Given the description of an element on the screen output the (x, y) to click on. 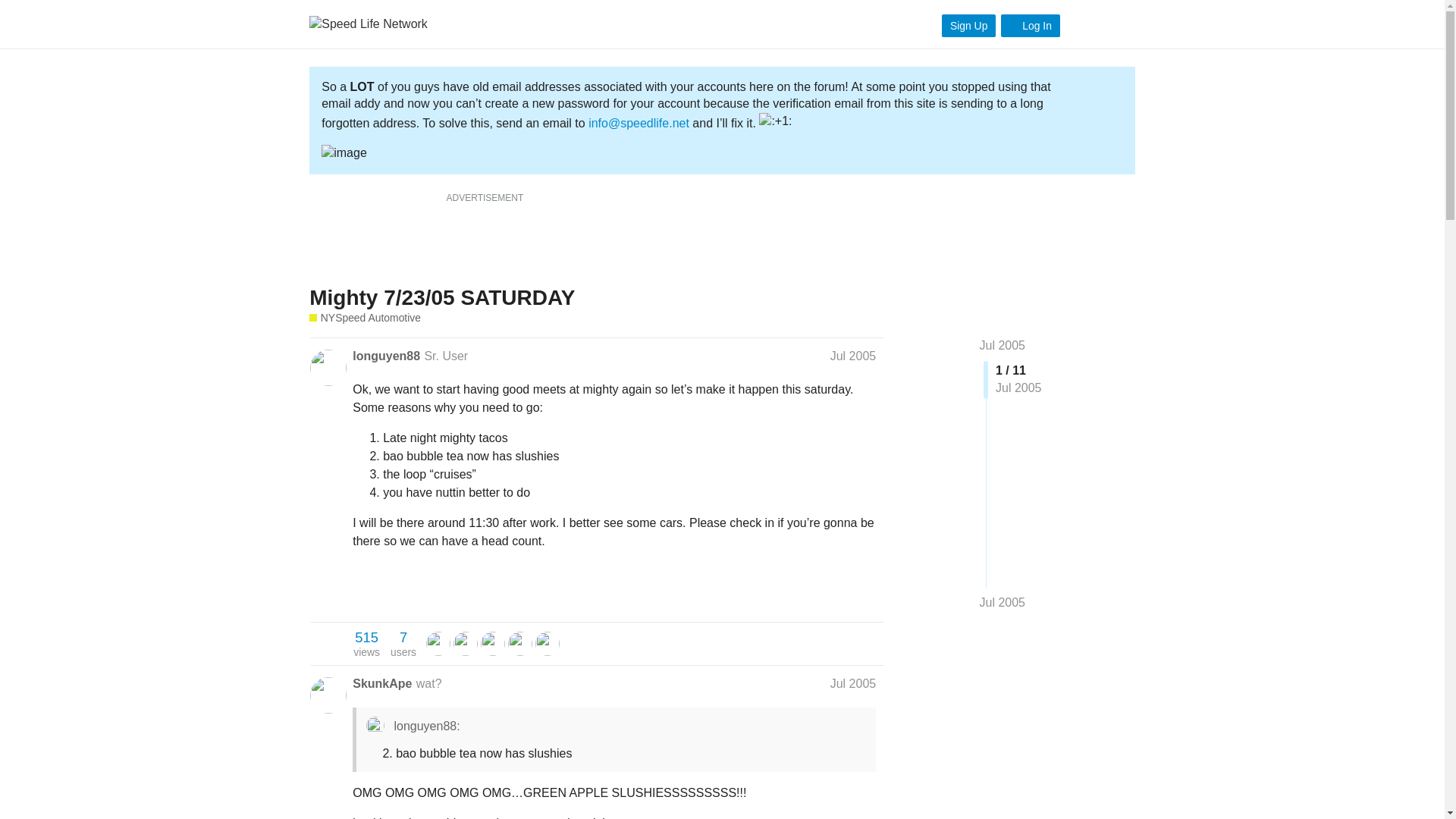
Sign Up (968, 25)
menu (1117, 23)
Jump to the first post (403, 643)
Log In (1002, 345)
Jump to the last post (1030, 25)
longuyen88 (1002, 602)
Jul 2005 (386, 356)
Jul 2005 (852, 683)
